Given the description of an element on the screen output the (x, y) to click on. 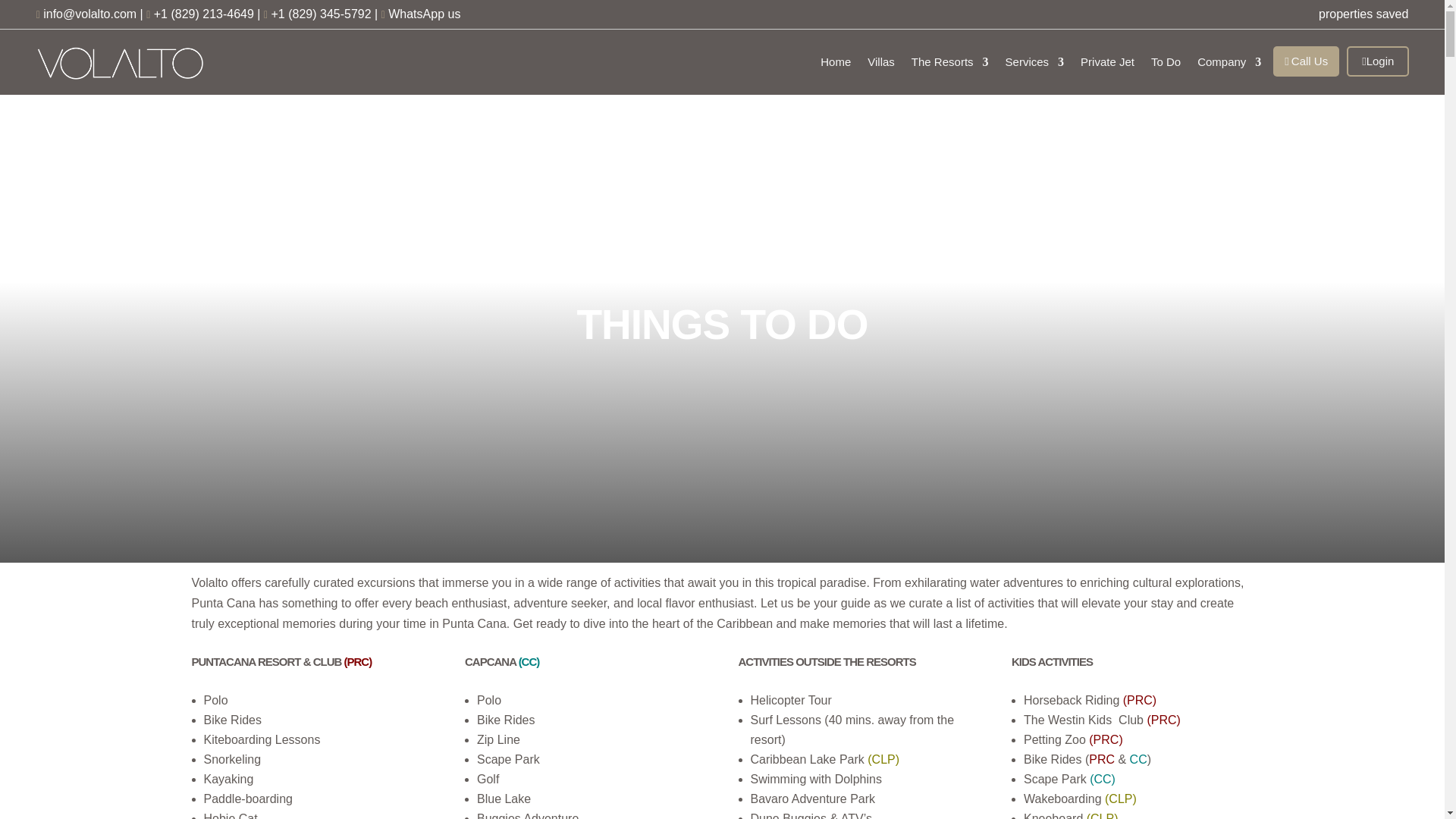
Private Jet (1107, 61)
Company (1228, 61)
Login (1377, 61)
Services (1035, 61)
WhatsApp us (424, 13)
Call Us (1305, 60)
The Resorts (949, 61)
  properties saved (1359, 13)
